Given the description of an element on the screen output the (x, y) to click on. 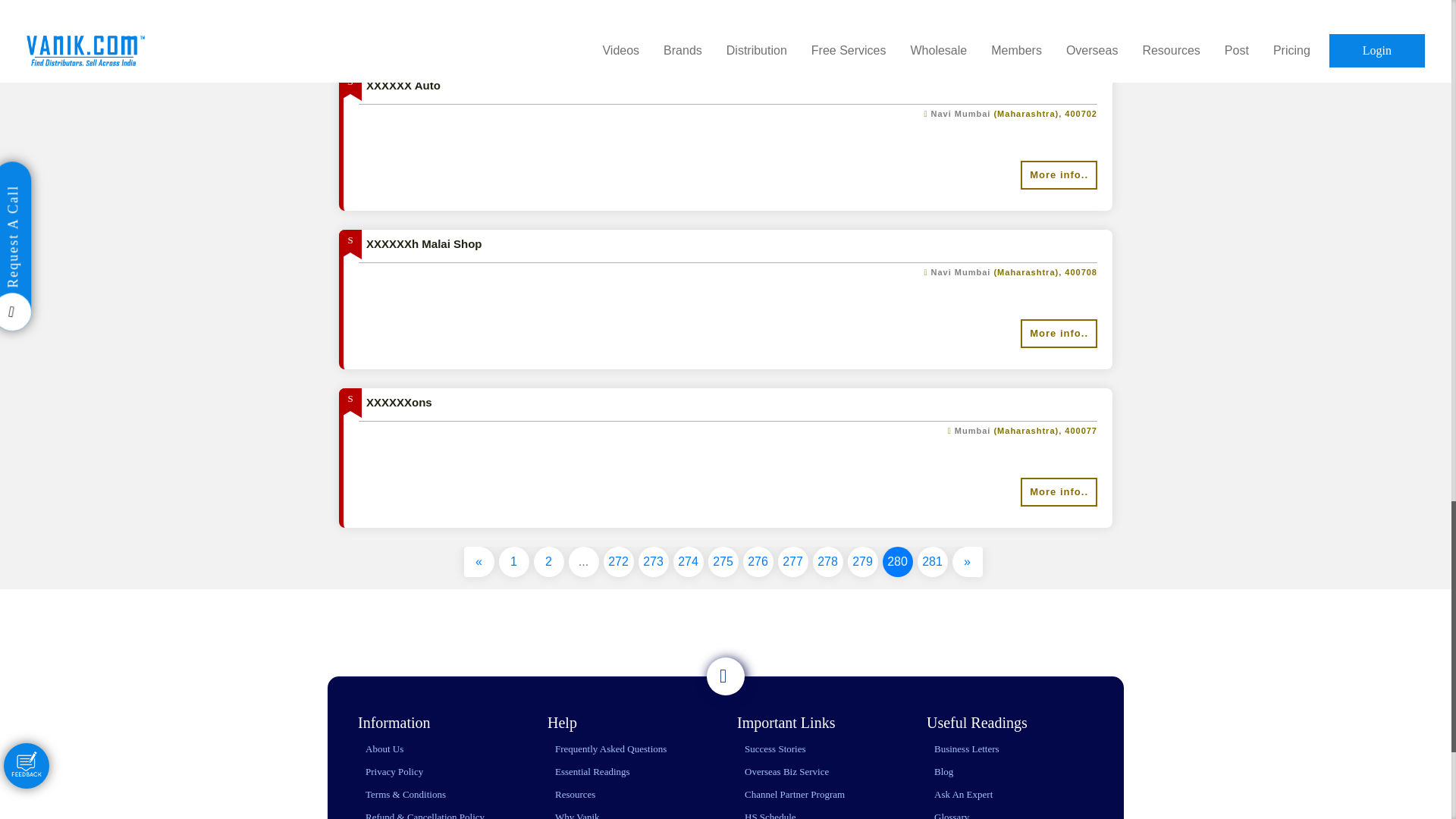
About Us (384, 748)
